Given the description of an element on the screen output the (x, y) to click on. 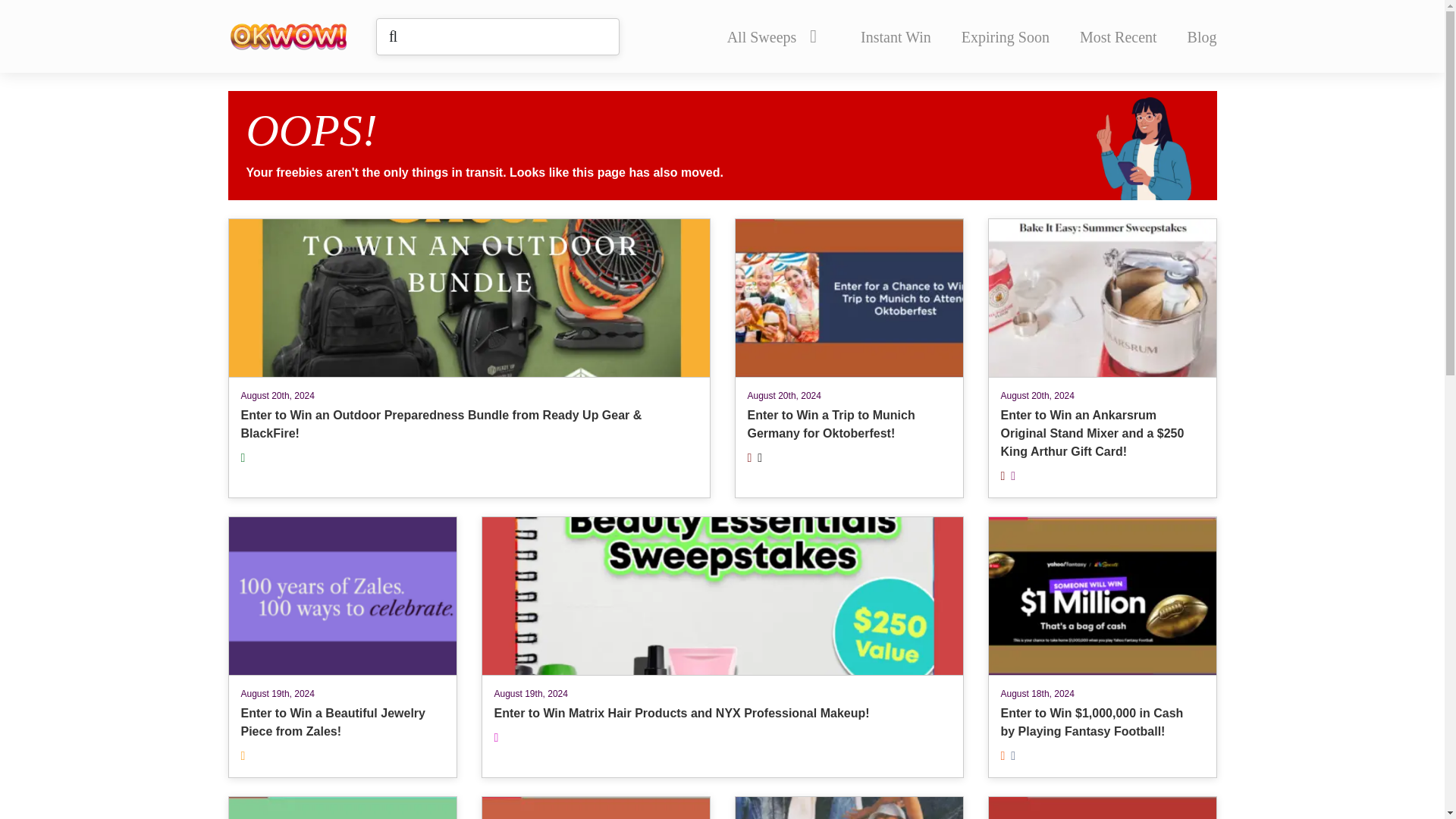
Most Recent (1118, 36)
Instant Win (595, 807)
Expiring Soon (895, 36)
All Sweeps (1004, 36)
